Given the description of an element on the screen output the (x, y) to click on. 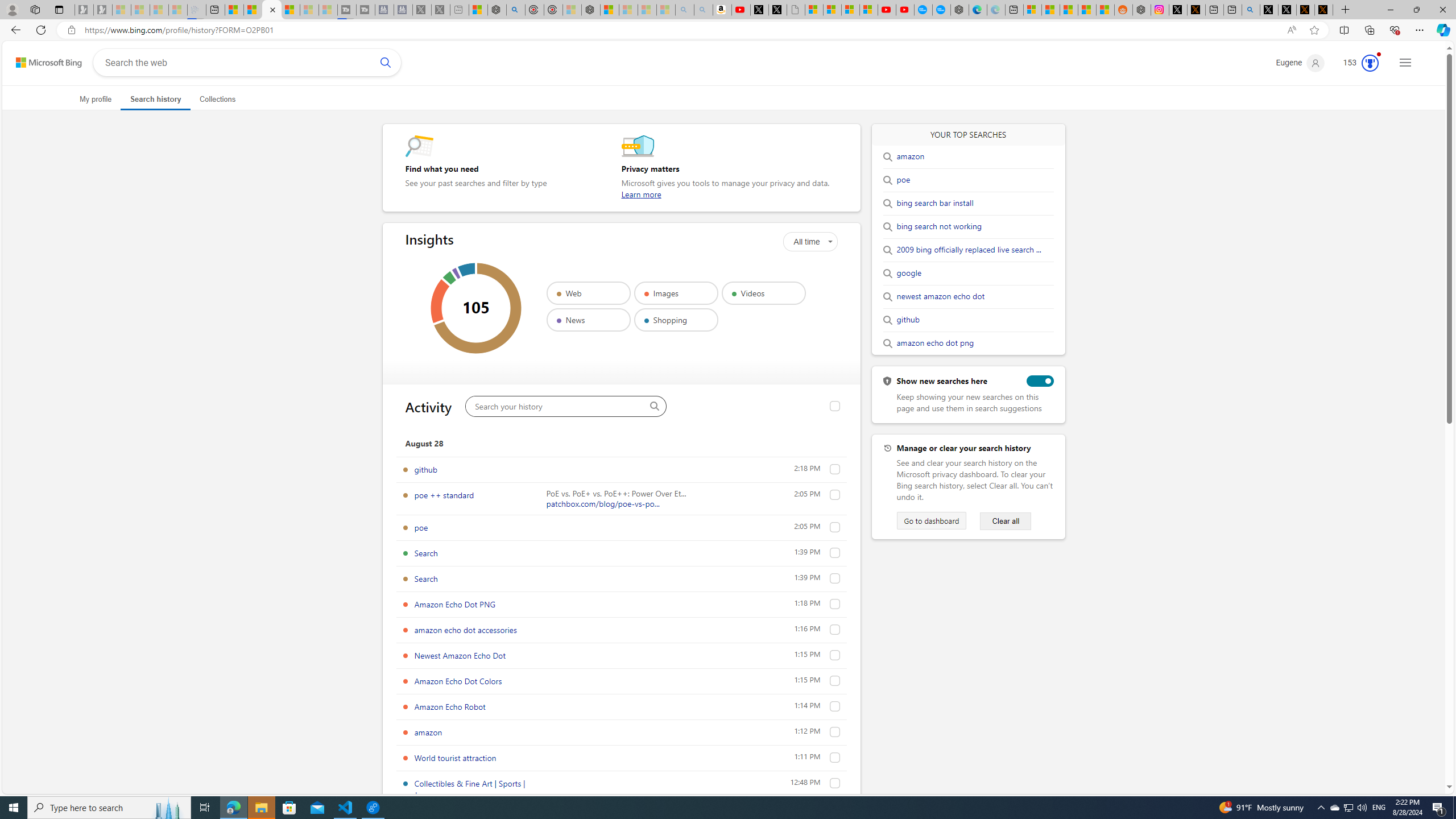
Collectibles & Fine Art | Sports | Jerseys (469, 789)
Log in to X / X (1178, 9)
Untitled (795, 9)
poe ++ standard (443, 494)
GitHub (@github) / X (1287, 9)
Class: el_arc partner-news (455, 273)
Shopping (675, 319)
Nordace - Nordace has arrived Hong Kong (960, 9)
poe (834, 527)
help.x.com | 524: A timeout occurred (1195, 9)
World tourist attraction (834, 757)
